Given the description of an element on the screen output the (x, y) to click on. 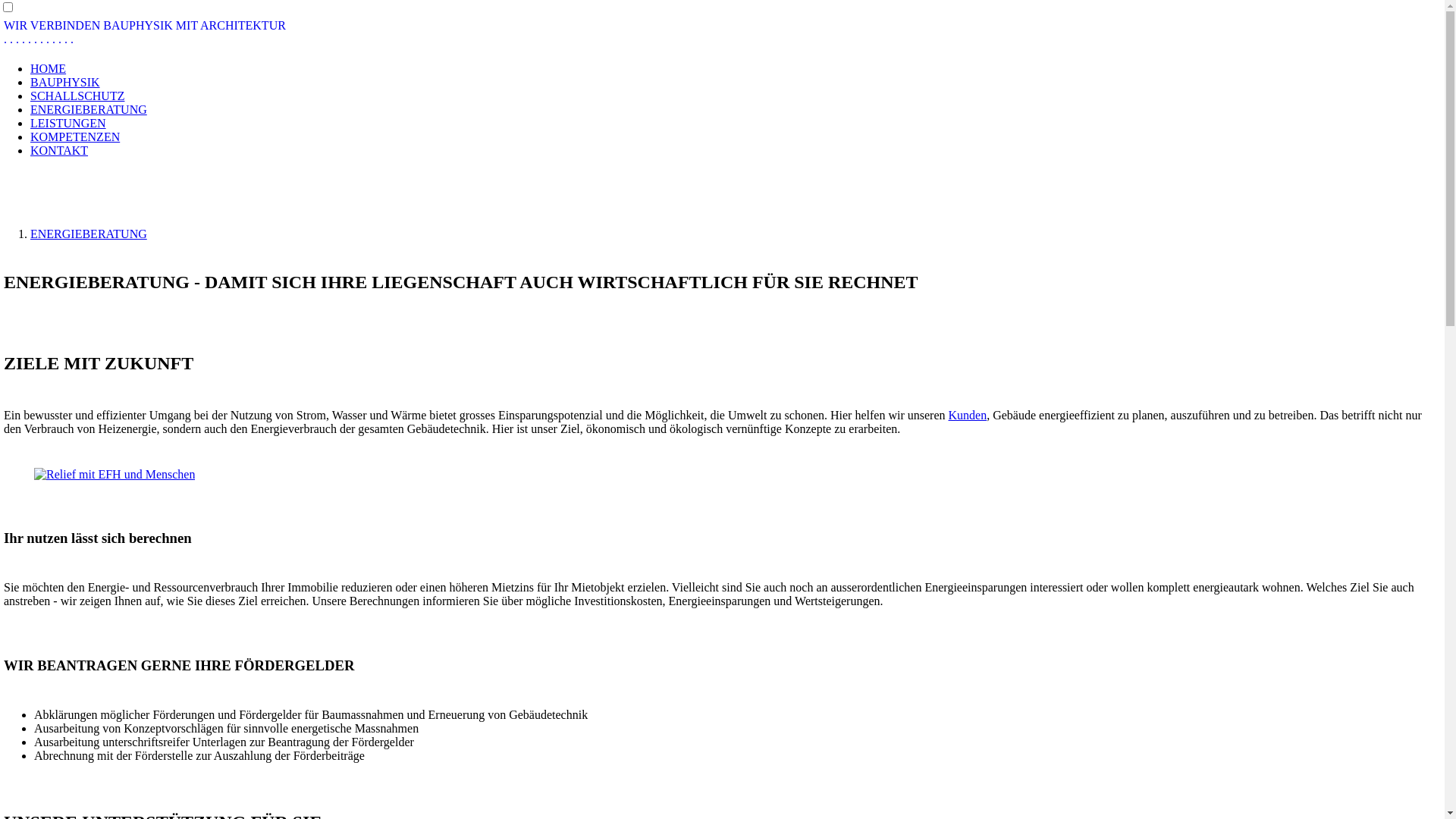
SCHALLSCHUTZ Element type: text (77, 95)
LEISTUNGEN Element type: text (68, 122)
KONTAKT Element type: text (58, 150)
ENERGIEBERATUNG Element type: text (88, 109)
Kunden Element type: text (967, 414)
KOMPETENZEN Element type: text (74, 136)
BAUPHYSIK Element type: text (65, 81)
ENERGIEBERATUNG Element type: text (88, 233)
HOME Element type: text (47, 68)
